Given the description of an element on the screen output the (x, y) to click on. 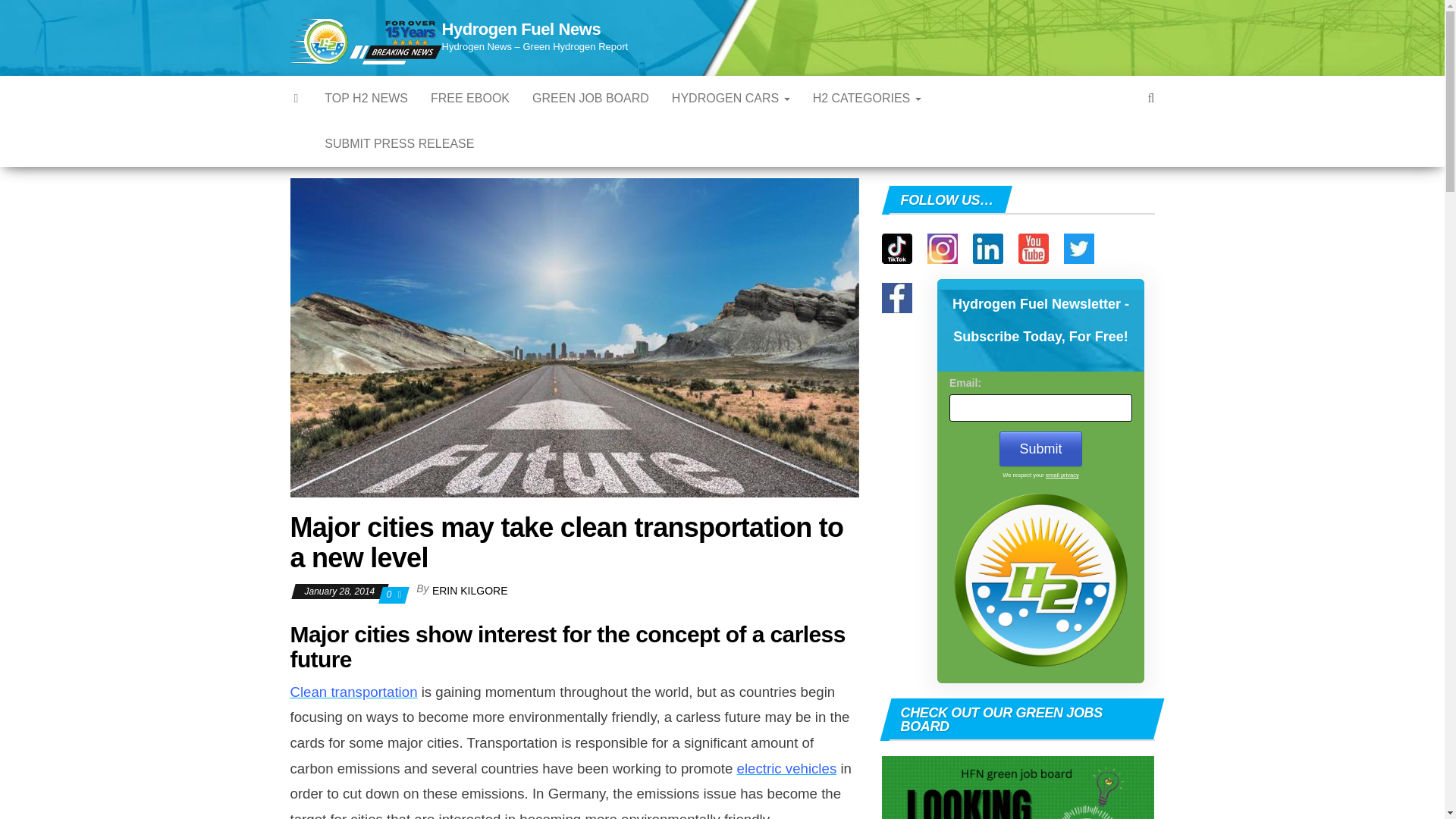
Hydrogen Fuel News (520, 28)
FREE EBOOK (470, 98)
Submit (1039, 448)
Free ebook (470, 98)
GREEN JOB BOARD (591, 98)
HYDROGEN CARS (731, 98)
TOP H2 NEWS (366, 98)
Hydrogen Cars (731, 98)
Green Job Board (591, 98)
H2 CATEGORIES (867, 98)
Top H2 News (366, 98)
